Given the description of an element on the screen output the (x, y) to click on. 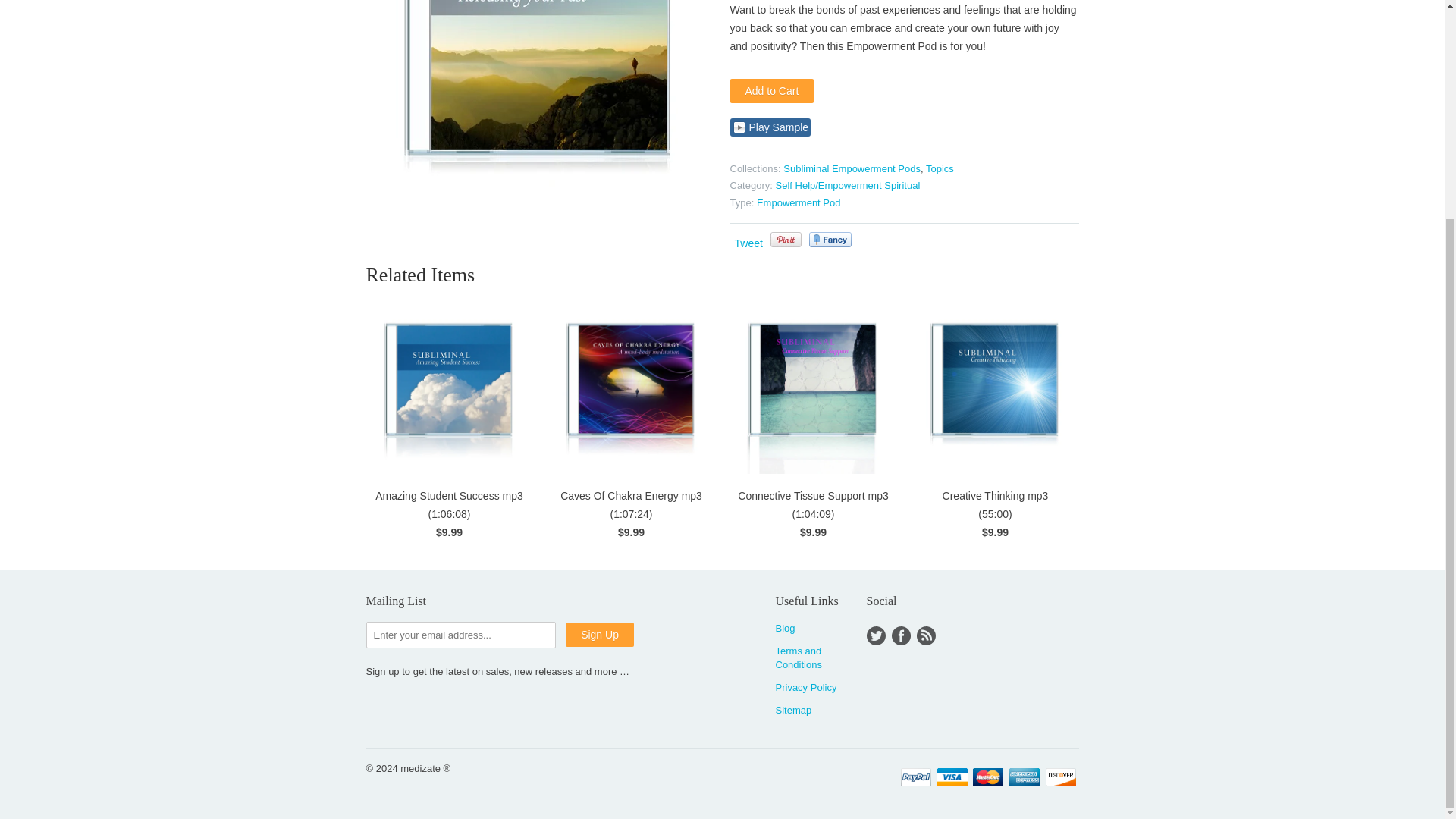
Add to Cart (771, 90)
Sign Up (599, 634)
Play Sample (769, 126)
Add to Cart (771, 90)
Subliminal Empowerment Pods (851, 168)
